Given the description of an element on the screen output the (x, y) to click on. 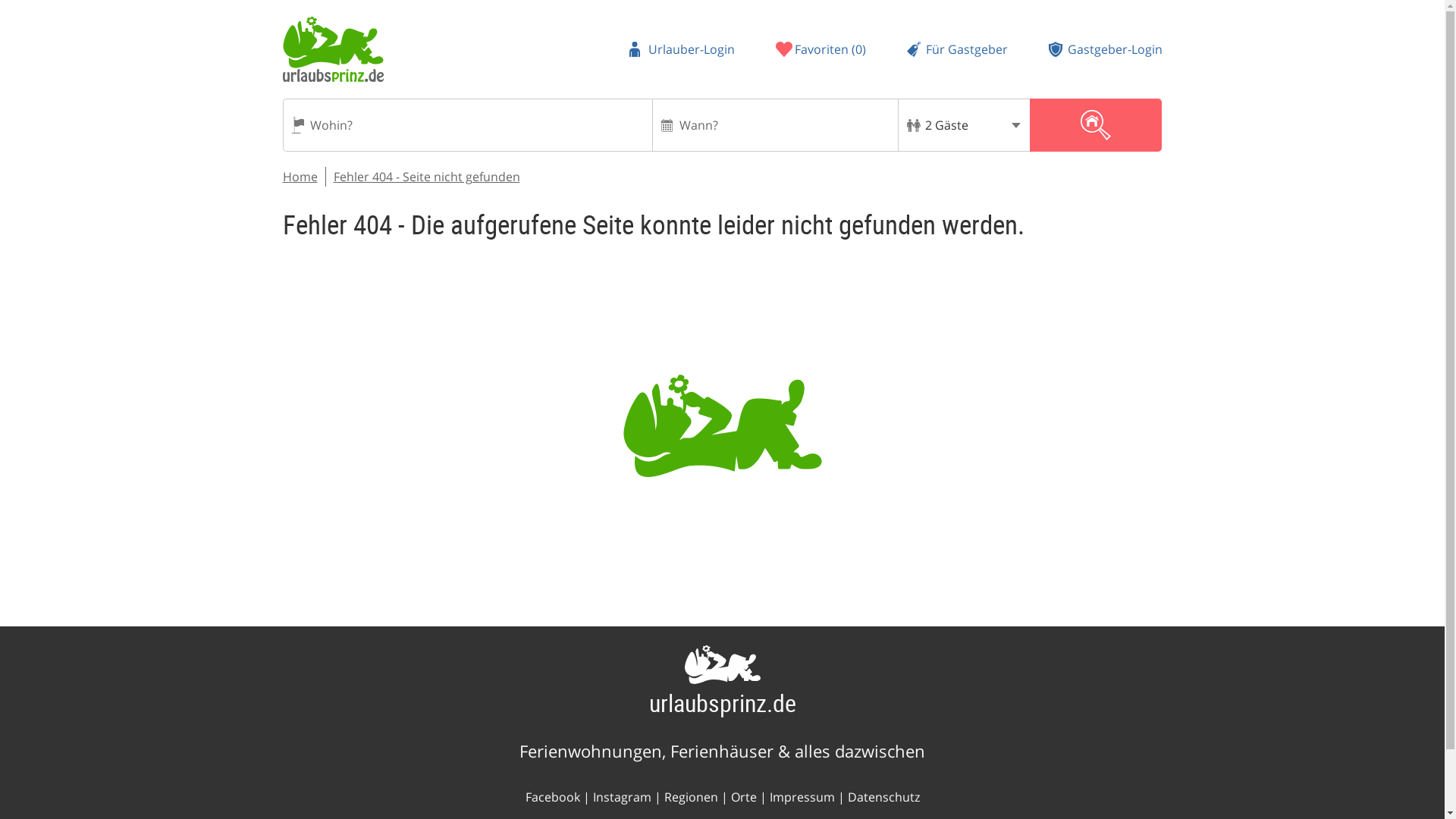
Ferienwohnung provisionsfrei vermieten (957, 48)
urlaubsprinz.de (722, 702)
Ferienorte in Deutschland (743, 796)
Regionen (690, 796)
Impressum (801, 796)
Urlauber-Login urlaubsprinz.de (681, 48)
Orte (743, 796)
urlaubsprinz.de bei Instagram (621, 796)
Datenschutz (883, 796)
Home (299, 176)
